Given the description of an element on the screen output the (x, y) to click on. 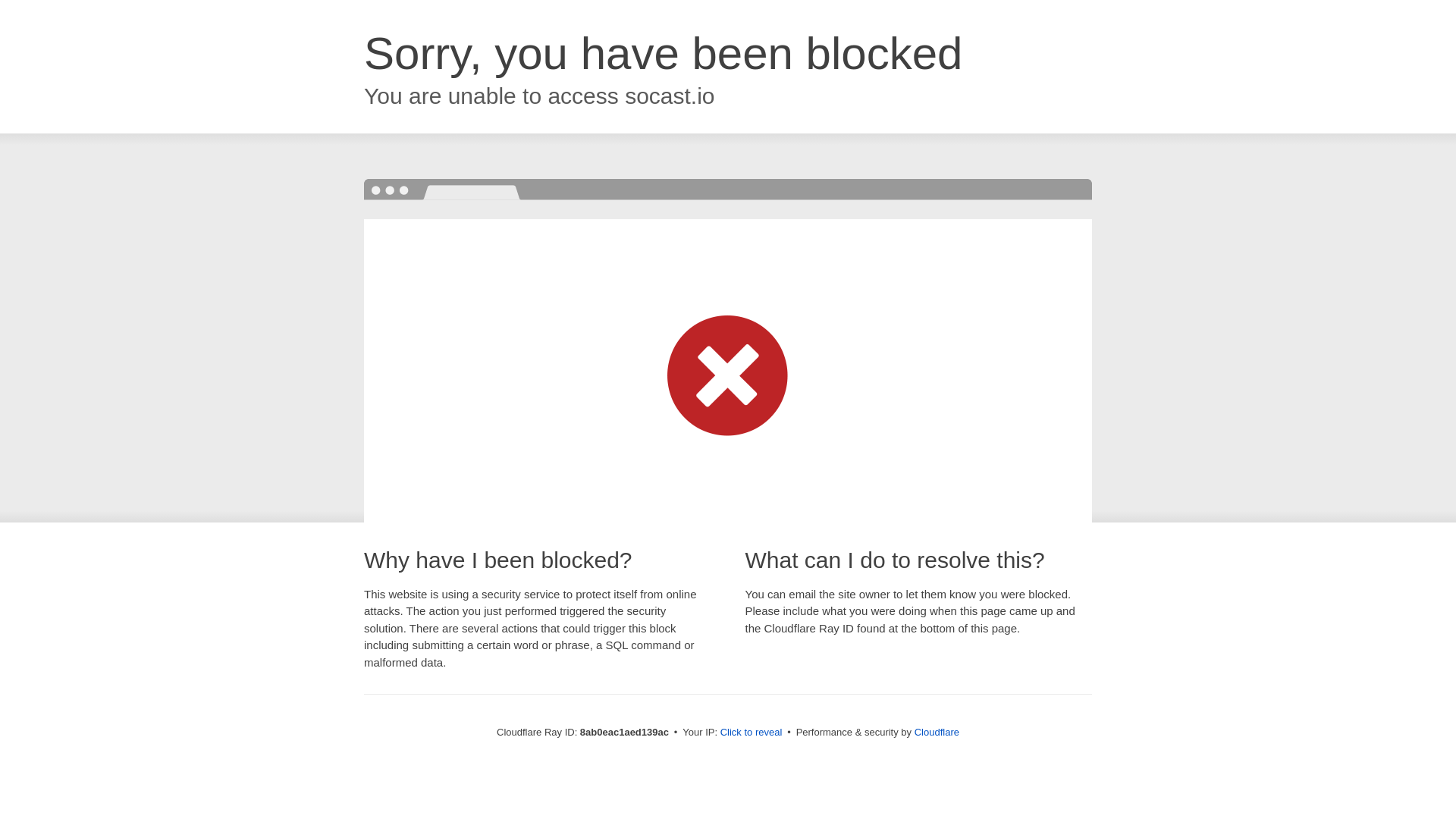
Cloudflare (936, 731)
Click to reveal (751, 732)
